Given the description of an element on the screen output the (x, y) to click on. 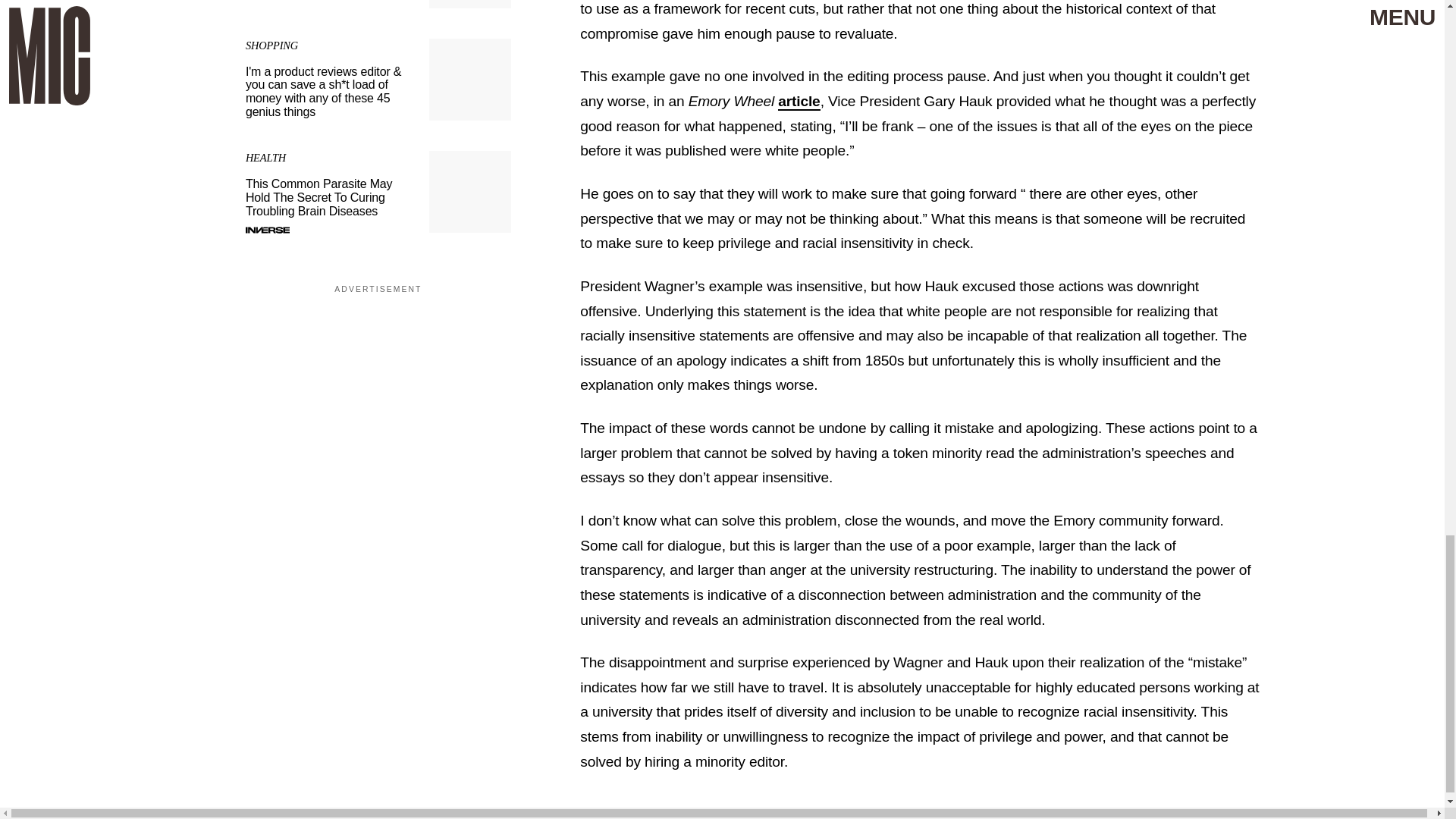
article (798, 101)
